Given the description of an element on the screen output the (x, y) to click on. 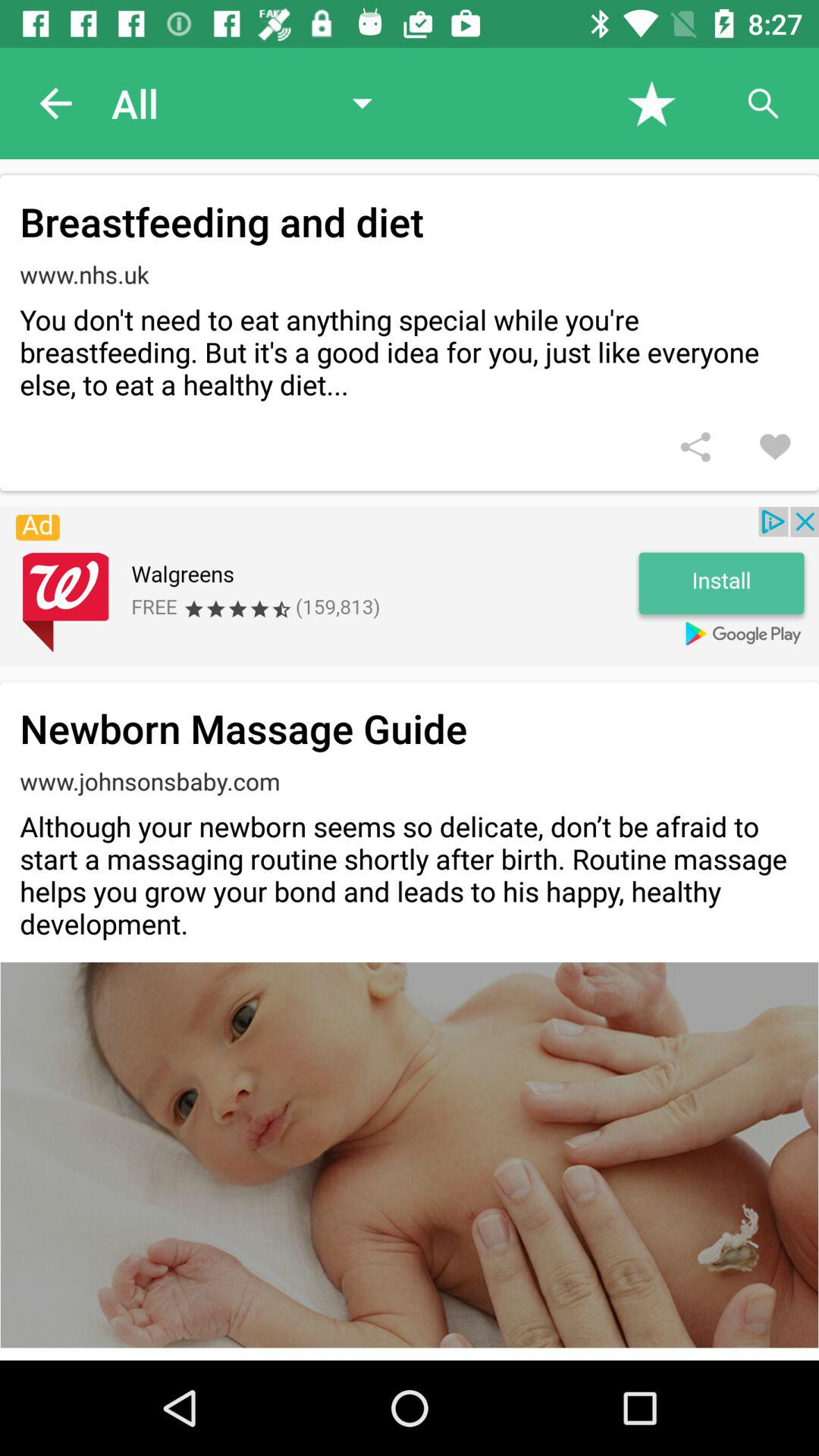
click to share option (695, 446)
